Given the description of an element on the screen output the (x, y) to click on. 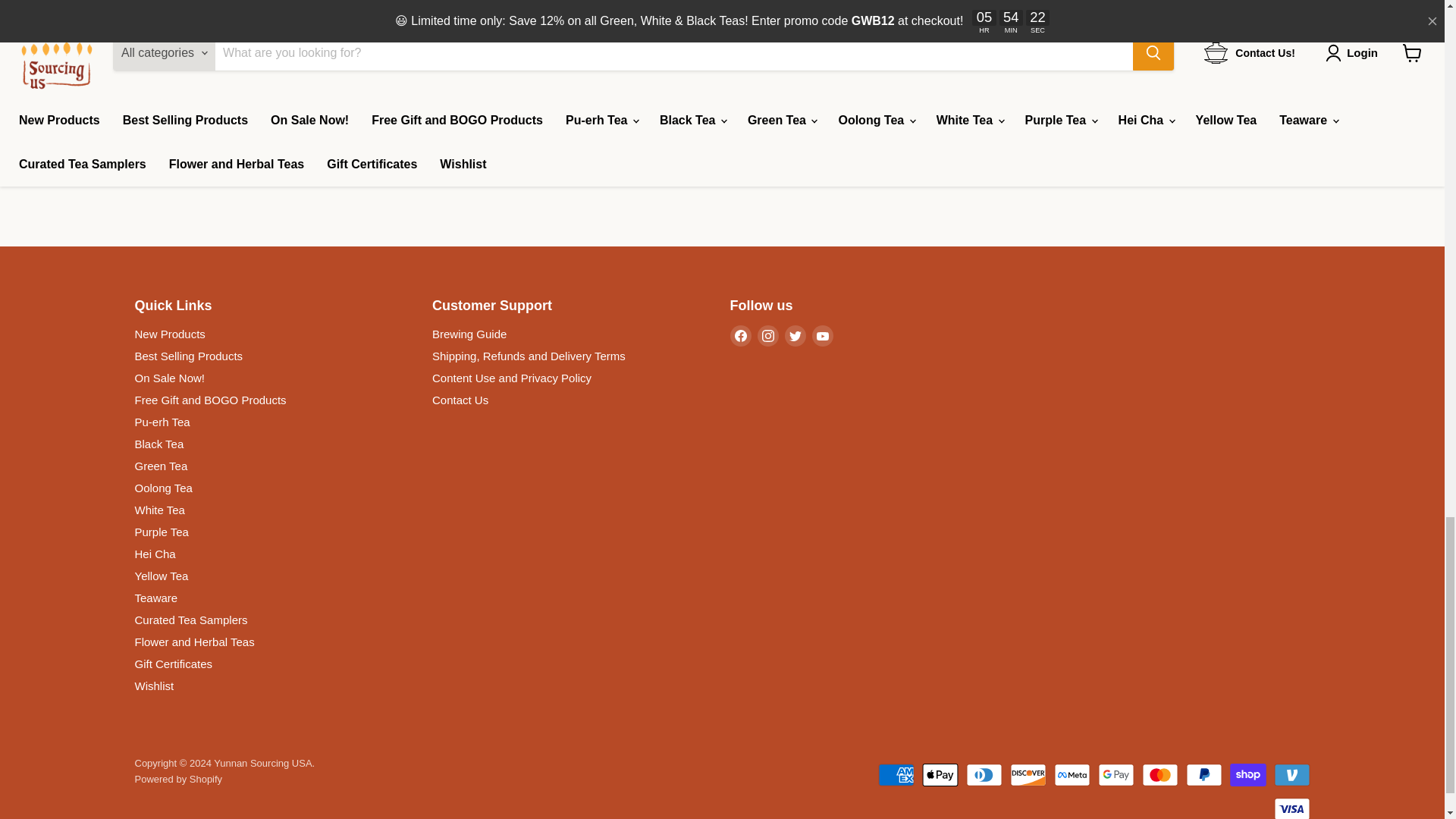
Facebook (740, 335)
Instagram (767, 335)
Twitter (794, 335)
YouTube (821, 335)
